Given the description of an element on the screen output the (x, y) to click on. 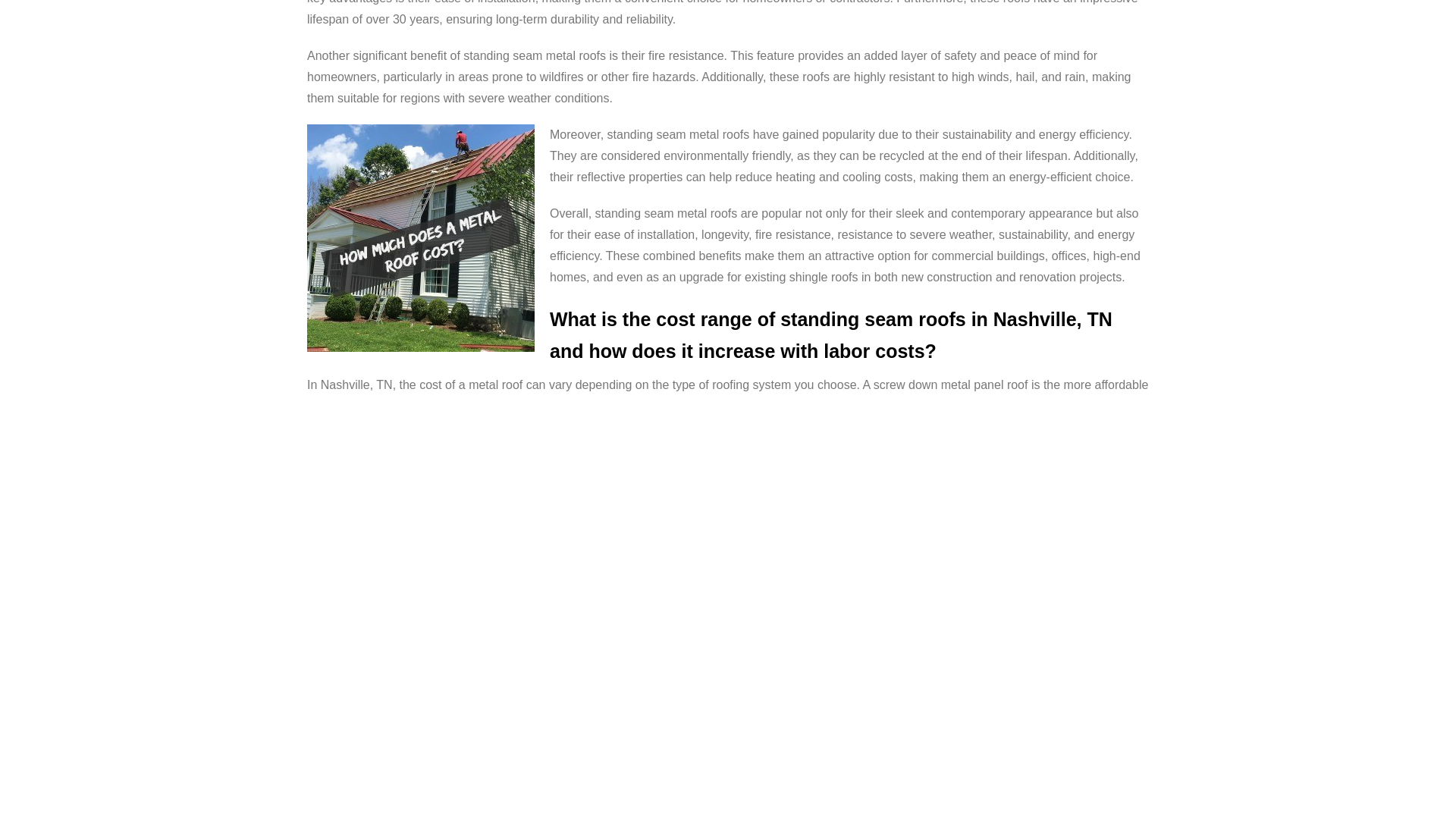
How-Much-Does-a-Metal-Roof-Cost - MidSouth Construction LLC (420, 238)
